Given the description of an element on the screen output the (x, y) to click on. 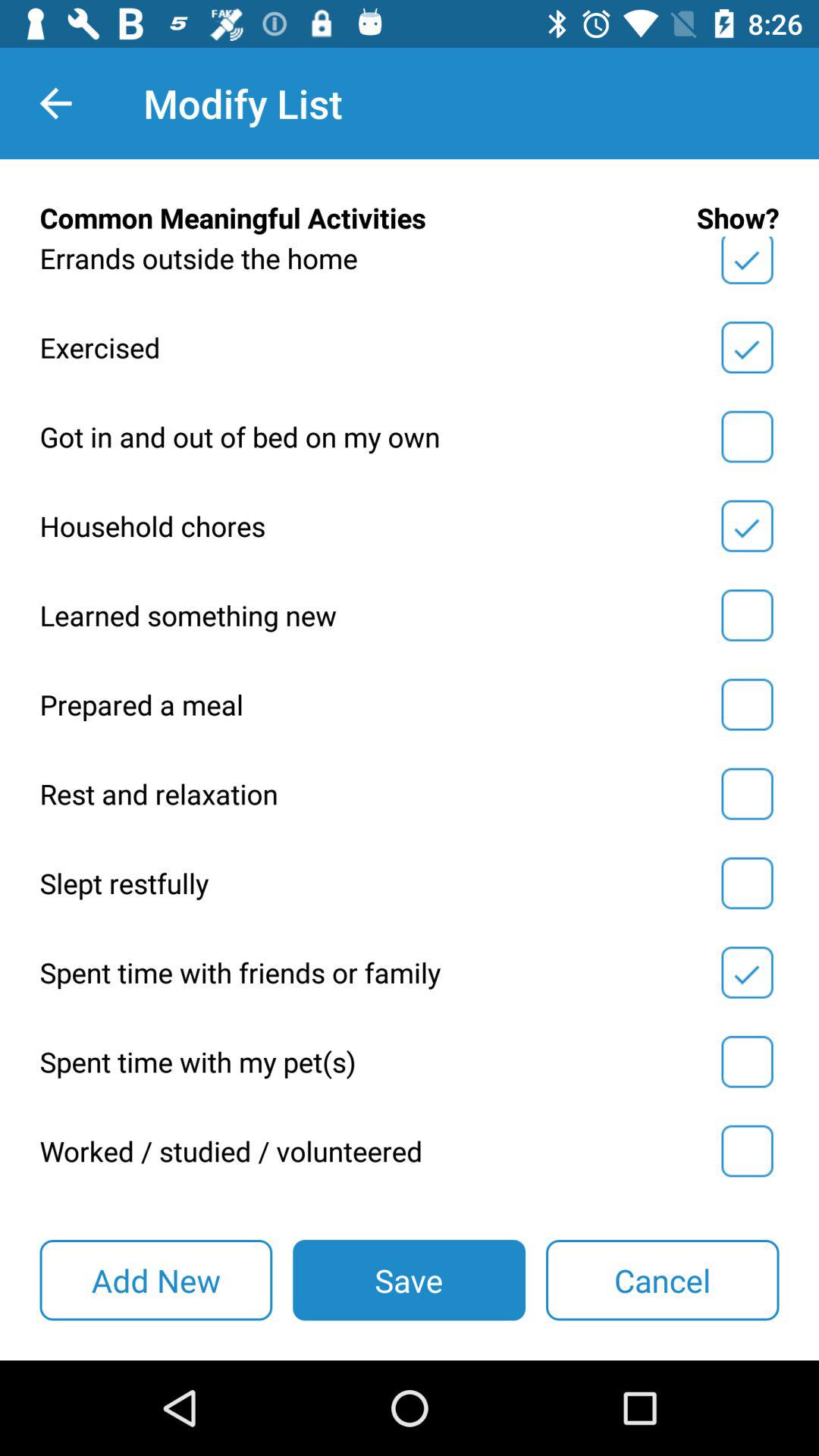
add 'slept restfully to your list of meaningful activities (747, 883)
